Given the description of an element on the screen output the (x, y) to click on. 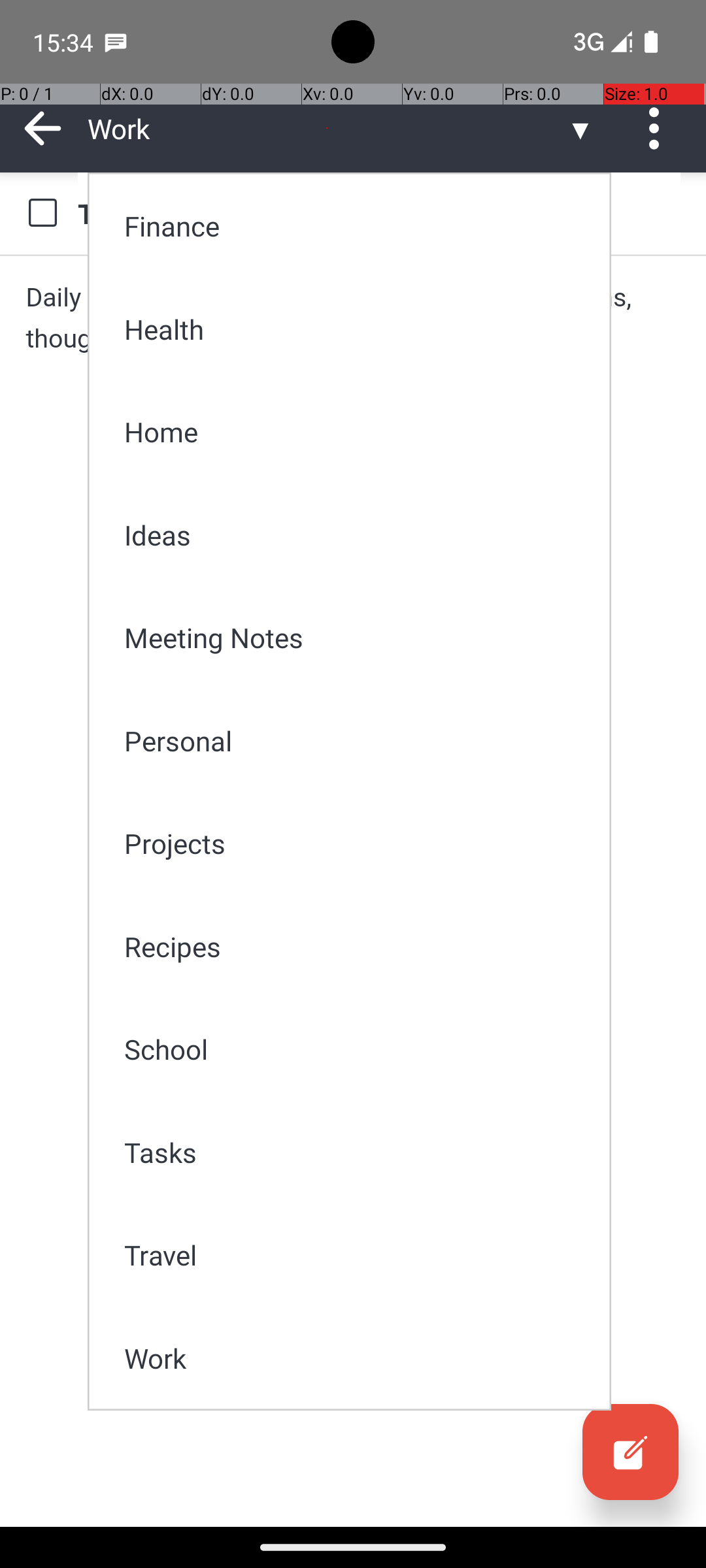
Health Element type: android.widget.TextView (358, 328)
Meeting Notes Element type: android.widget.TextView (358, 636)
Recipes Element type: android.widget.TextView (358, 945)
Travel Element type: android.widget.TextView (358, 1254)
Work Element type: android.widget.TextView (358, 1357)
